Given the description of an element on the screen output the (x, y) to click on. 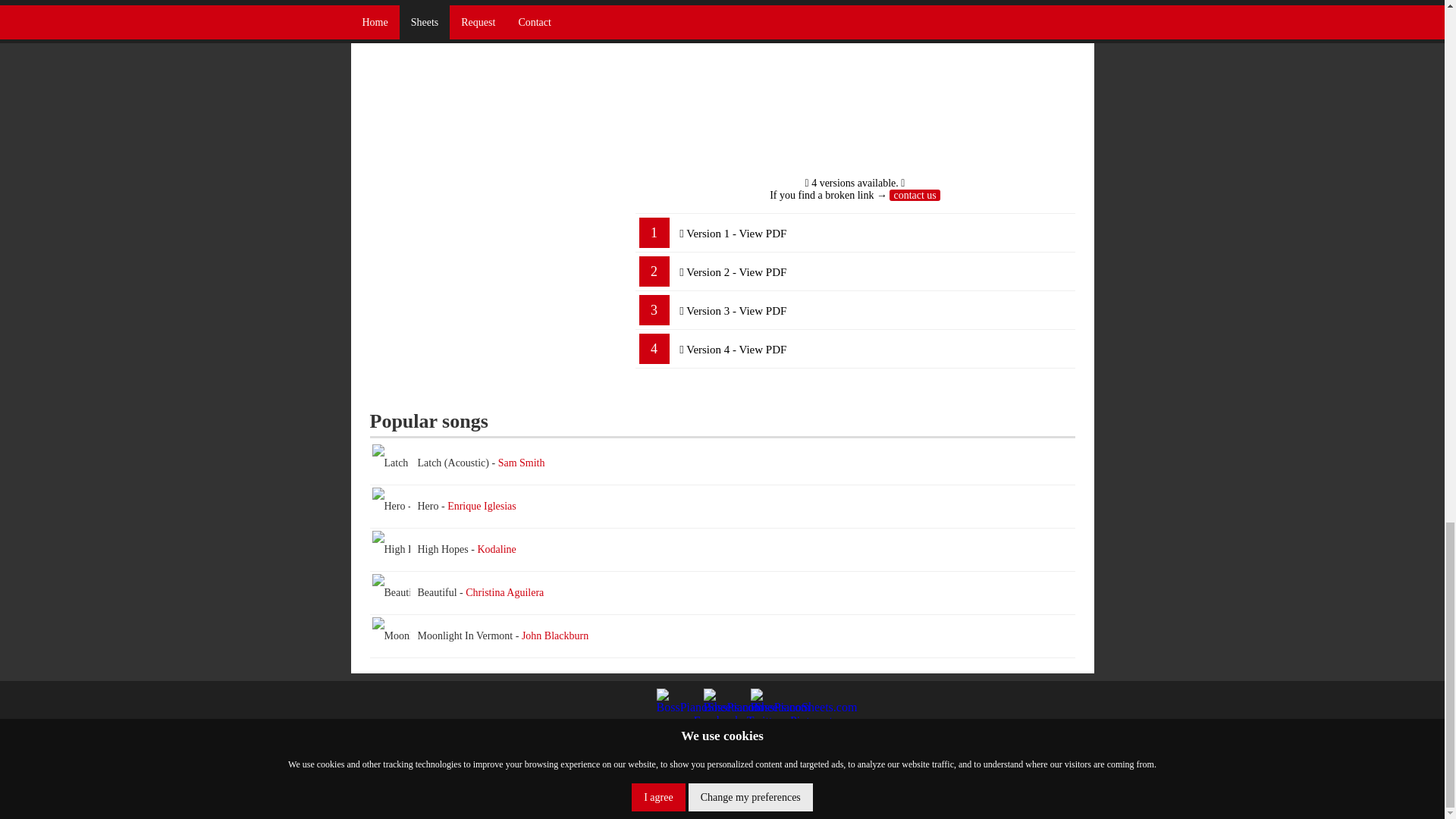
BossPianoSheets.com on Twitter (722, 707)
BossPianoSheets.com on Facebook (675, 707)
BossPianoSheets.com on Pinterest (770, 707)
contact us (914, 194)
Hero - Enrique Iglesias (722, 506)
Beautiful - Christina Aguilera (434, 592)
Moonlight In Vermont - John Blackburn (457, 636)
BossPianoSheets.com (785, 799)
Beautiful - Christina Aguilera (722, 593)
High Hopes - Kodaline (420, 549)
